Given the description of an element on the screen output the (x, y) to click on. 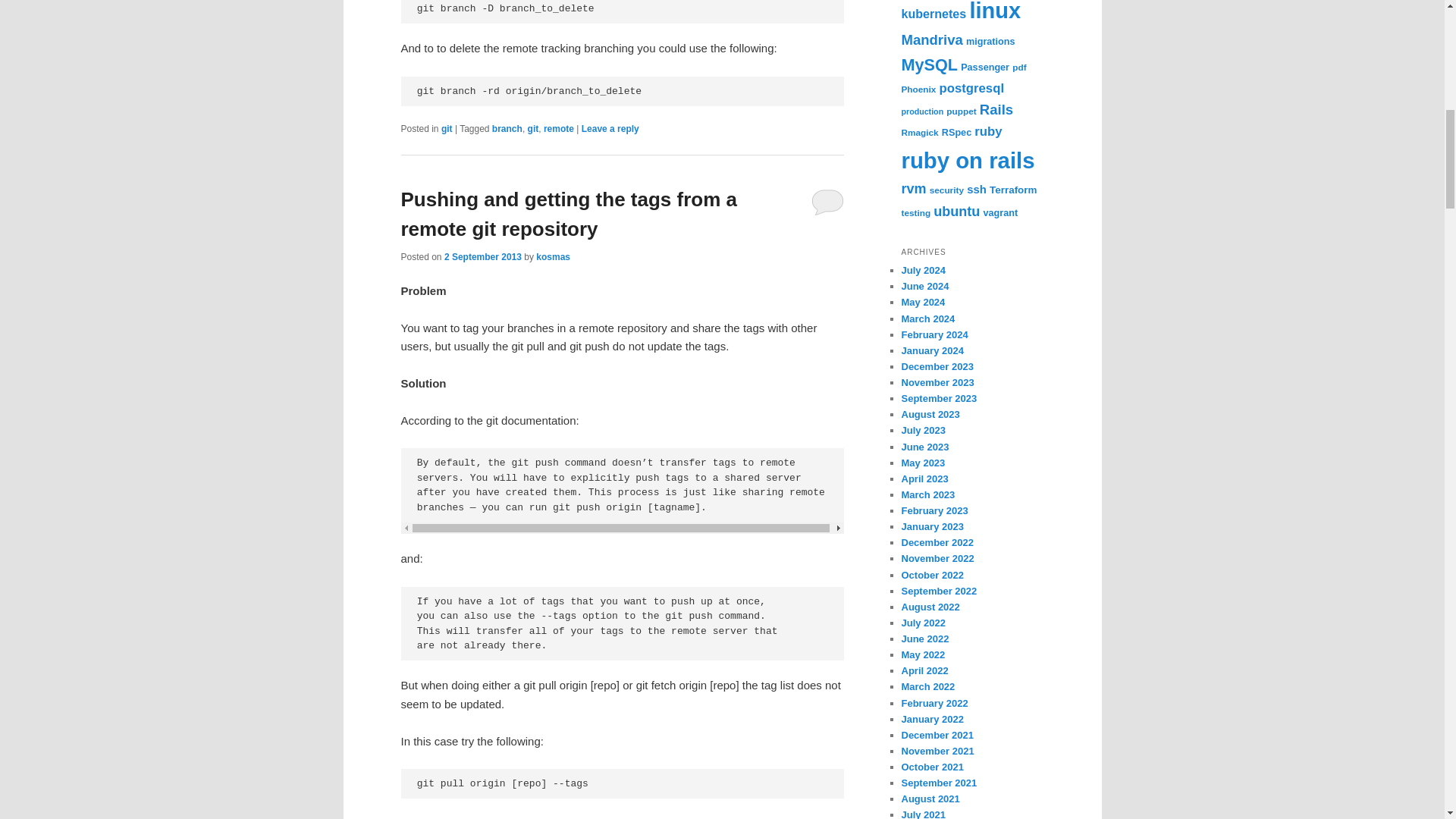
Pushing and getting the tags from a remote git repository (568, 214)
git (446, 128)
Leave a reply (609, 128)
View all posts by kosmas (552, 256)
branch (507, 128)
2 September 2013 (482, 256)
kosmas (552, 256)
12:14 pm (482, 256)
git (532, 128)
remote (558, 128)
